Given the description of an element on the screen output the (x, y) to click on. 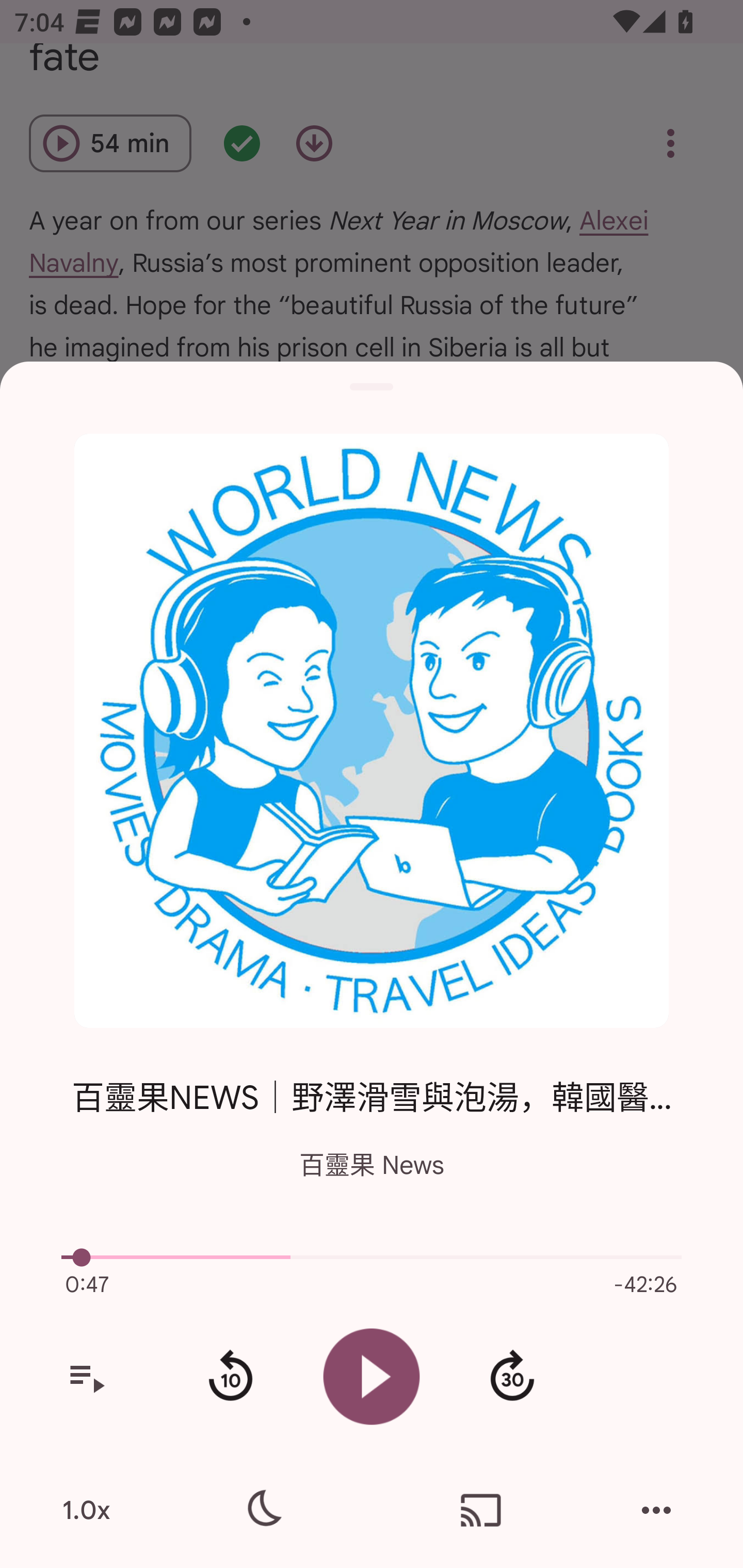
Open the show page for 百靈果 News (371, 731)
181.0 Current episode playback (371, 1257)
Play (371, 1376)
View your queue (86, 1376)
Rewind 10 seconds (230, 1376)
Fast forward 30 second (511, 1376)
1.0x Playback speed is 1.0. (86, 1510)
Sleep timer settings (261, 1510)
Cast. Disconnected (480, 1510)
More actions (655, 1510)
